Given the description of an element on the screen output the (x, y) to click on. 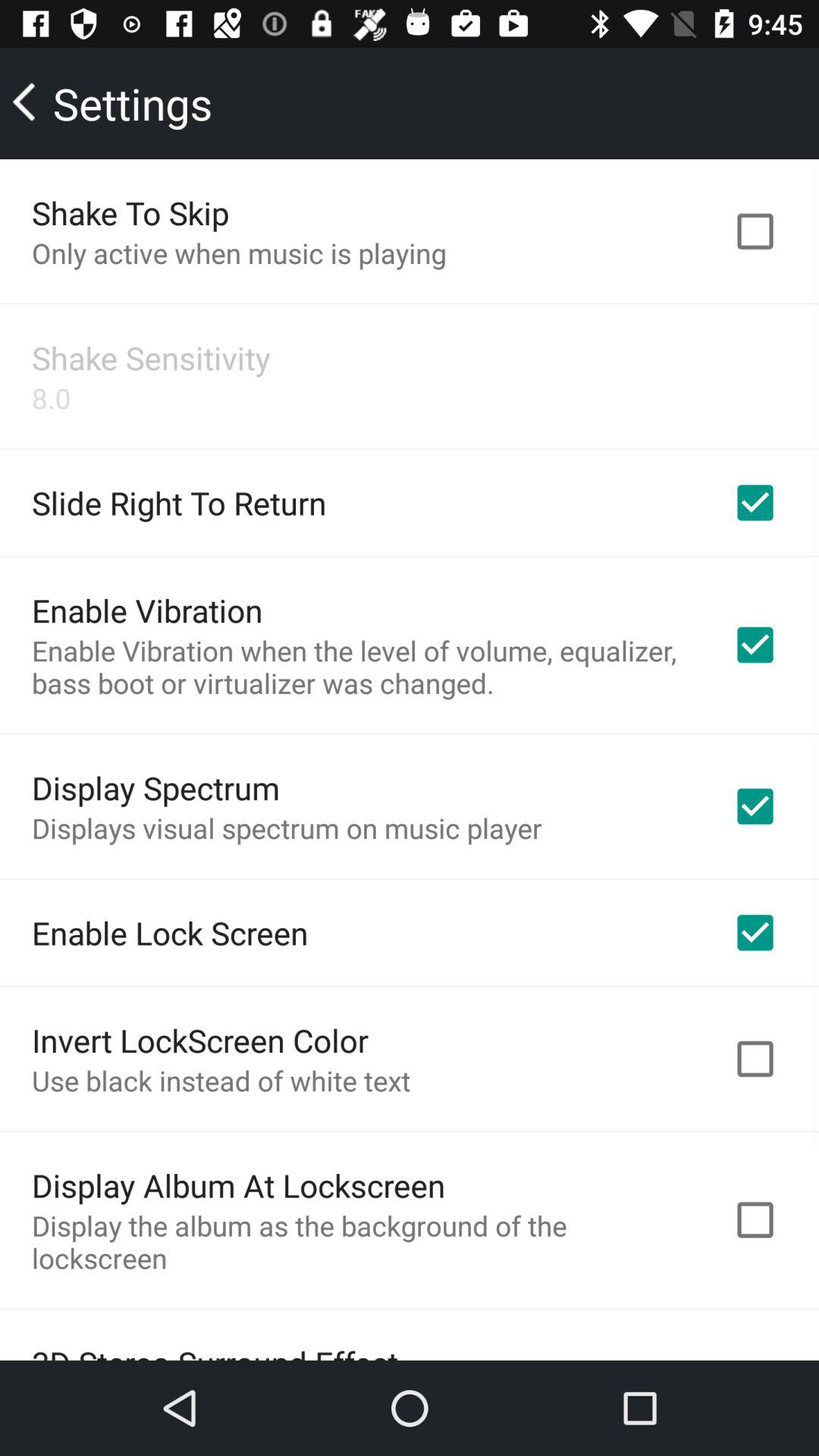
select icon above enable vibration item (178, 502)
